Given the description of an element on the screen output the (x, y) to click on. 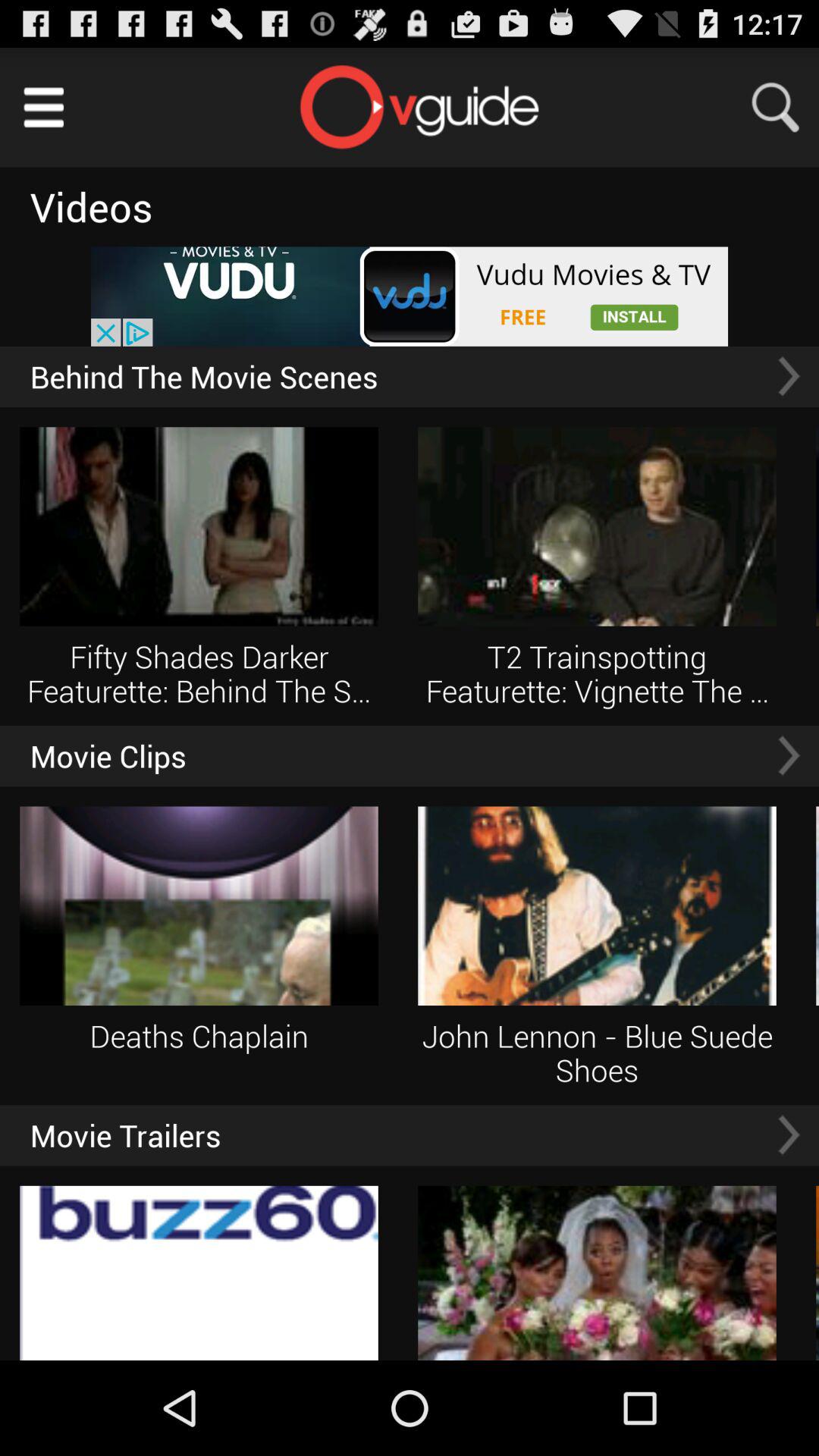
advances to next page (789, 1134)
